Given the description of an element on the screen output the (x, y) to click on. 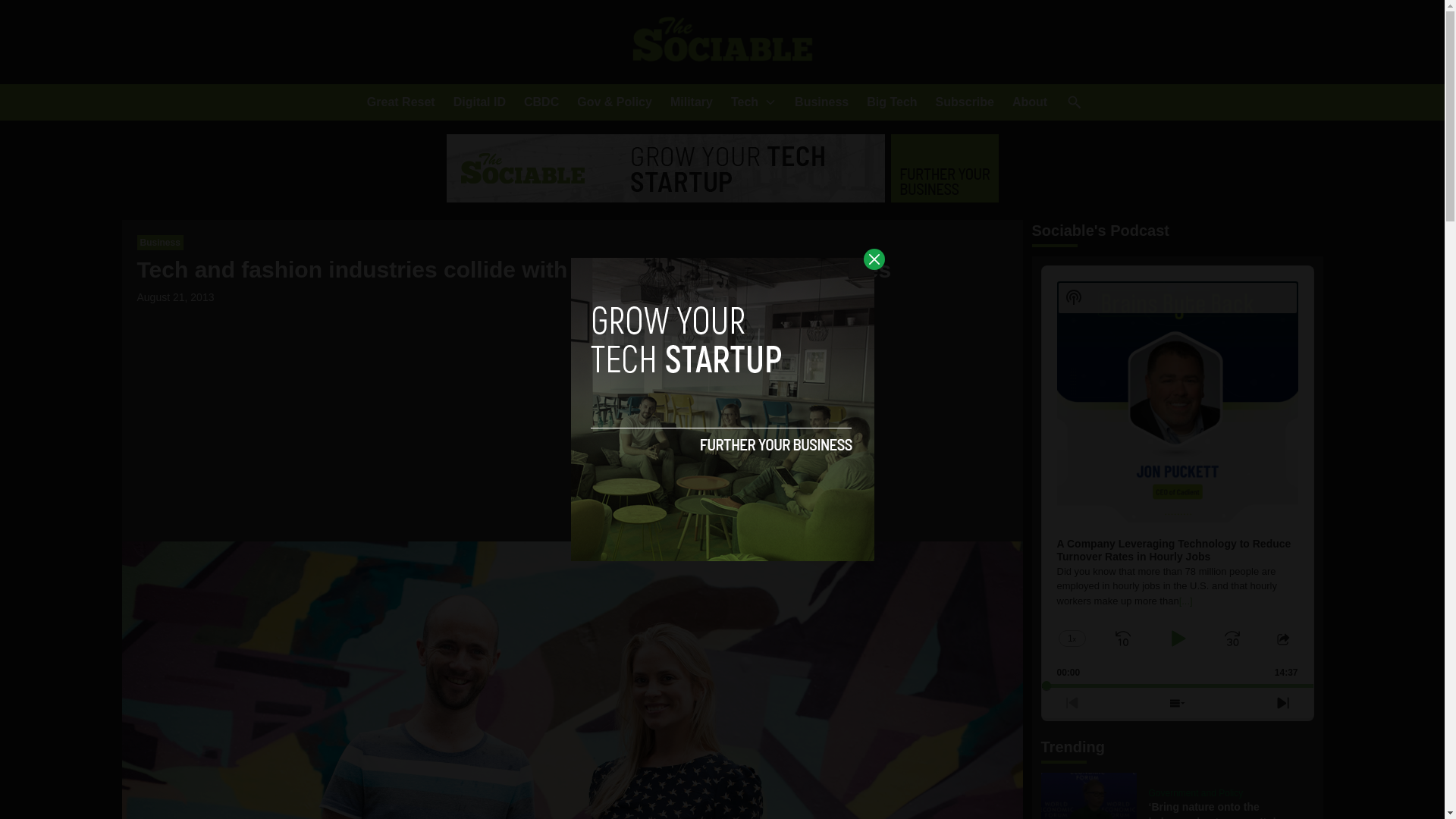
Military (691, 102)
Great Reset (400, 102)
Business (821, 102)
Tech (744, 102)
About (1028, 102)
Business (159, 242)
CBDC (541, 102)
Big Tech (891, 102)
Digital ID (478, 102)
Subscribe (965, 102)
